Given the description of an element on the screen output the (x, y) to click on. 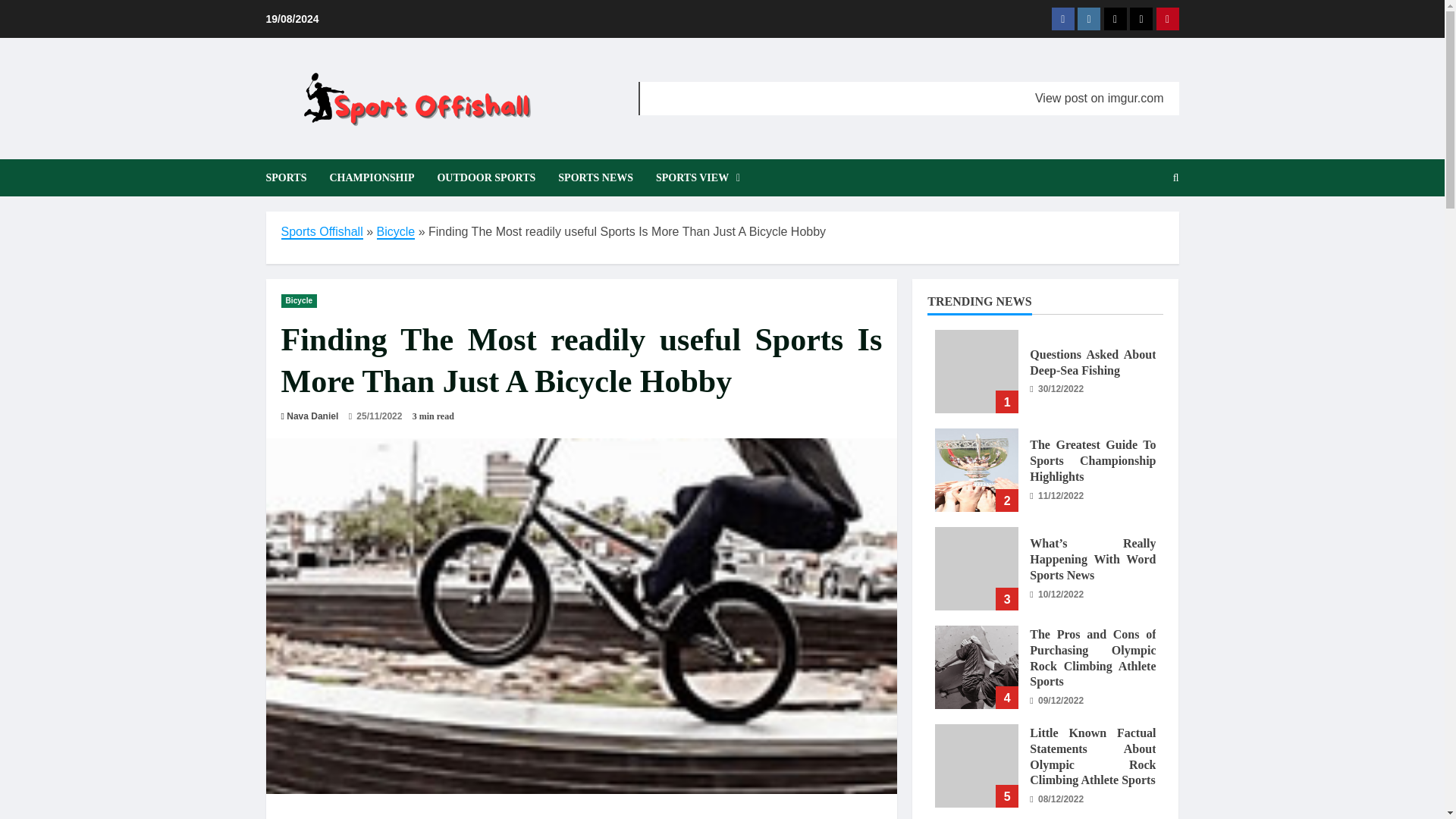
Nava Daniel (311, 416)
OUTDOOR SPORTS (486, 177)
The Greatest Guide To Sports Championship Highlights (1092, 460)
Search (1139, 229)
The Greatest Guide To Sports Championship Highlights (975, 469)
SPORTS (290, 177)
Questions Asked About Deep-Sea Fishing (975, 371)
Tiktok (1141, 18)
